Given the description of an element on the screen output the (x, y) to click on. 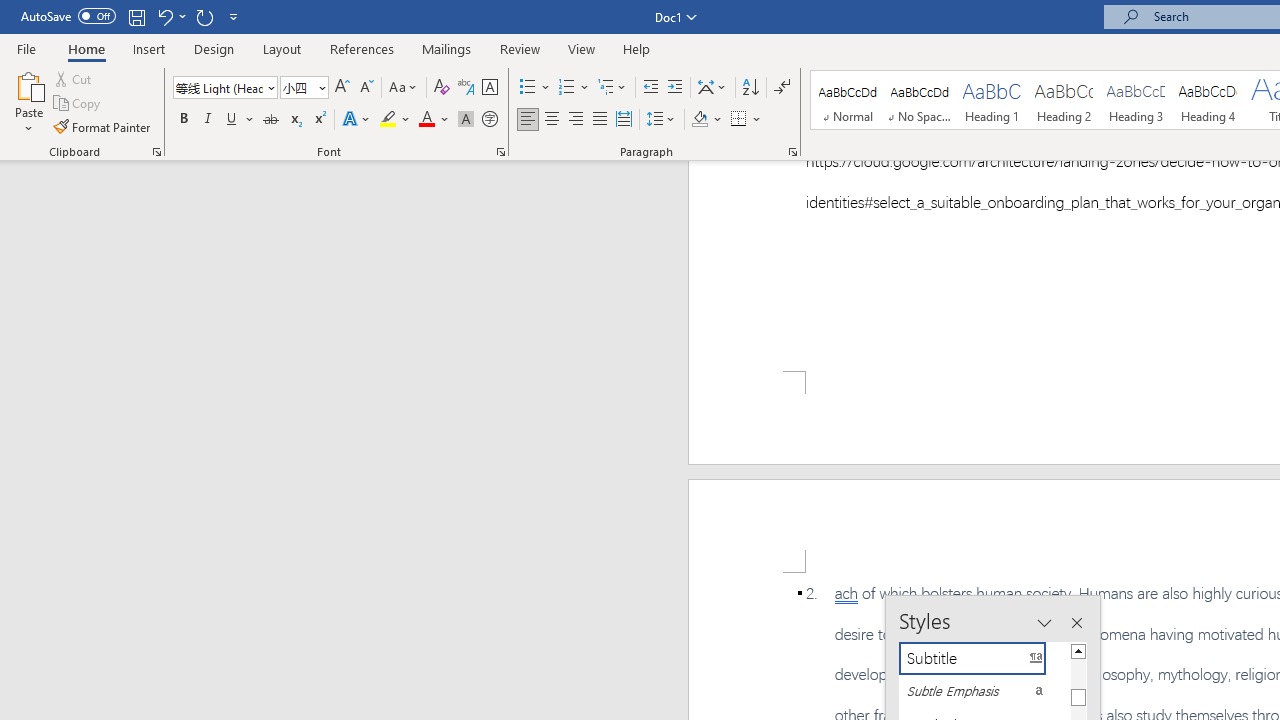
Cut (73, 78)
Italic (207, 119)
Line and Paragraph Spacing (661, 119)
Undo Apply Quick Style (170, 15)
Customize Quick Access Toolbar (234, 15)
Borders (746, 119)
Decrease Indent (650, 87)
Subtle Emphasis (984, 691)
Align Left (527, 119)
Justify (599, 119)
Borders (739, 119)
Multilevel List (613, 87)
Design (214, 48)
